Given the description of an element on the screen output the (x, y) to click on. 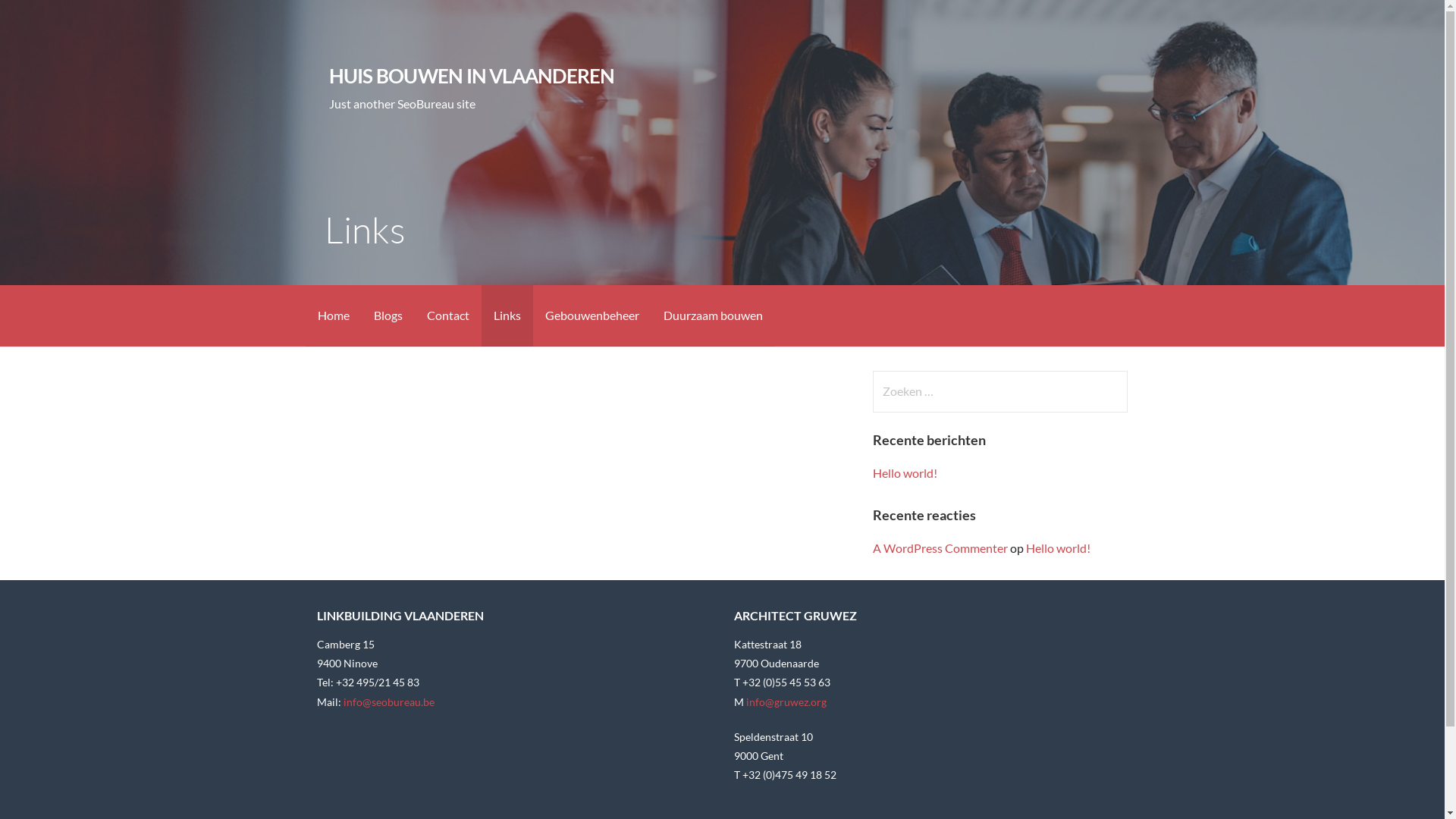
info@seobureau.be Element type: text (388, 701)
Blogs Element type: text (387, 315)
HUIS BOUWEN IN VLAANDEREN Element type: text (472, 75)
Contact Element type: text (447, 315)
Hello world! Element type: text (1058, 547)
Links Element type: text (506, 315)
Hello world! Element type: text (904, 472)
Home Element type: text (332, 315)
Duurzaam bouwen Element type: text (712, 315)
Gebouwenbeheer Element type: text (591, 315)
info@gruwez.org Element type: text (786, 701)
Zoeken Element type: text (42, 18)
A WordPress Commenter Element type: text (939, 547)
